Given the description of an element on the screen output the (x, y) to click on. 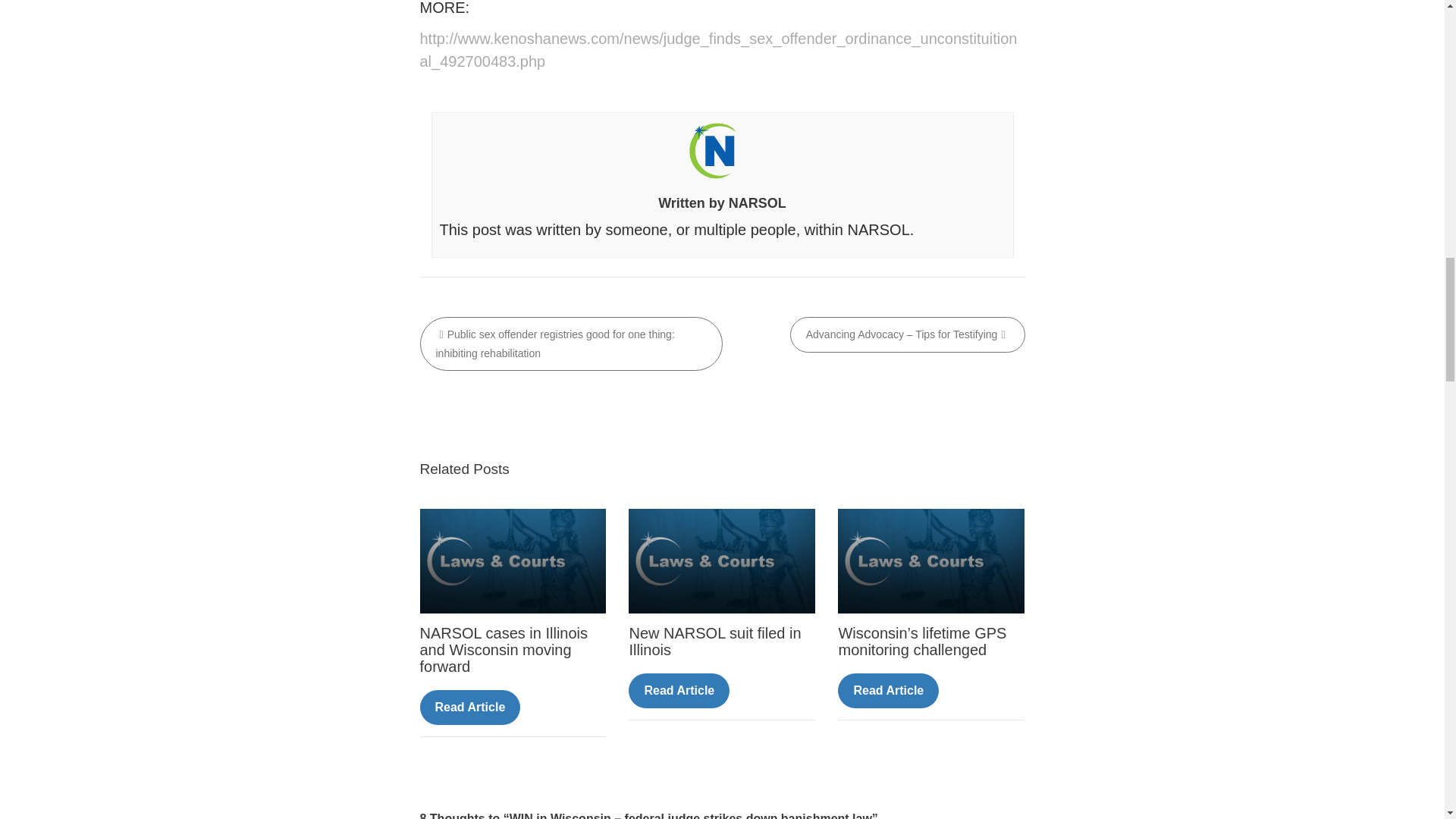
Posts by NARSOL (757, 202)
